Given the description of an element on the screen output the (x, y) to click on. 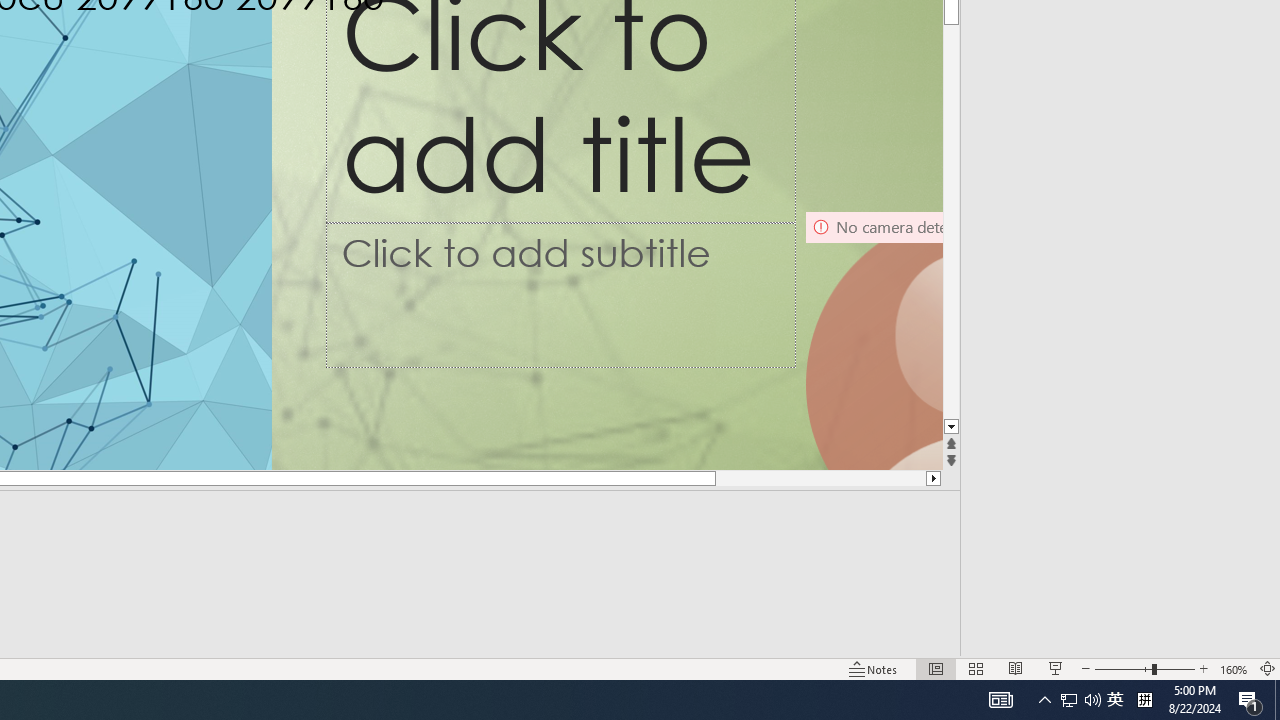
Subtitle TextBox (561, 294)
Camera 9, No camera detected. (873, 340)
Zoom 160% (1234, 668)
